Given the description of an element on the screen output the (x, y) to click on. 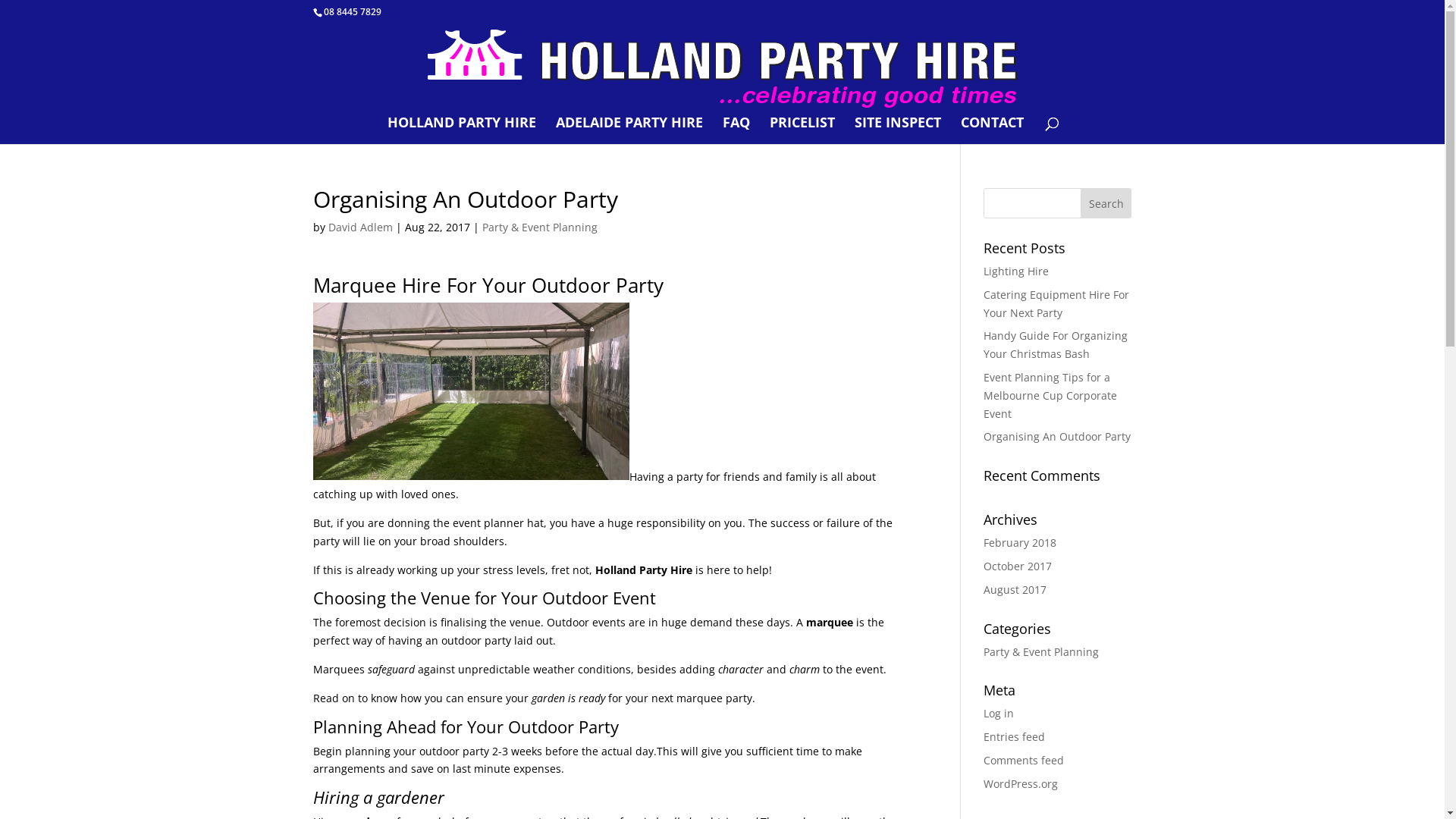
Party & Event Planning Element type: text (1040, 651)
Entries feed Element type: text (1013, 736)
SITE INSPECT Element type: text (897, 130)
Organising An Outdoor Party Element type: text (1056, 436)
WordPress.org Element type: text (1020, 783)
FAQ Element type: text (735, 130)
Search Element type: text (1106, 203)
Handy Guide For Organizing Your Christmas Bash  Element type: text (1055, 344)
HOLLAND PARTY HIRE Element type: text (461, 130)
David Adlem Element type: text (359, 226)
Catering Equipment Hire For Your Next Party Element type: text (1056, 303)
Comments feed Element type: text (1023, 760)
Log in Element type: text (998, 713)
PRICELIST Element type: text (801, 130)
ADELAIDE PARTY HIRE Element type: text (628, 130)
August 2017 Element type: text (1014, 589)
Event Planning Tips for a Melbourne Cup Corporate Event Element type: text (1050, 395)
February 2018 Element type: text (1019, 542)
Party & Event Planning Element type: text (539, 226)
08 8445 7829 Element type: text (351, 11)
October 2017 Element type: text (1017, 565)
CONTACT Element type: text (991, 130)
Lighting Hire Element type: text (1015, 270)
